Given the description of an element on the screen output the (x, y) to click on. 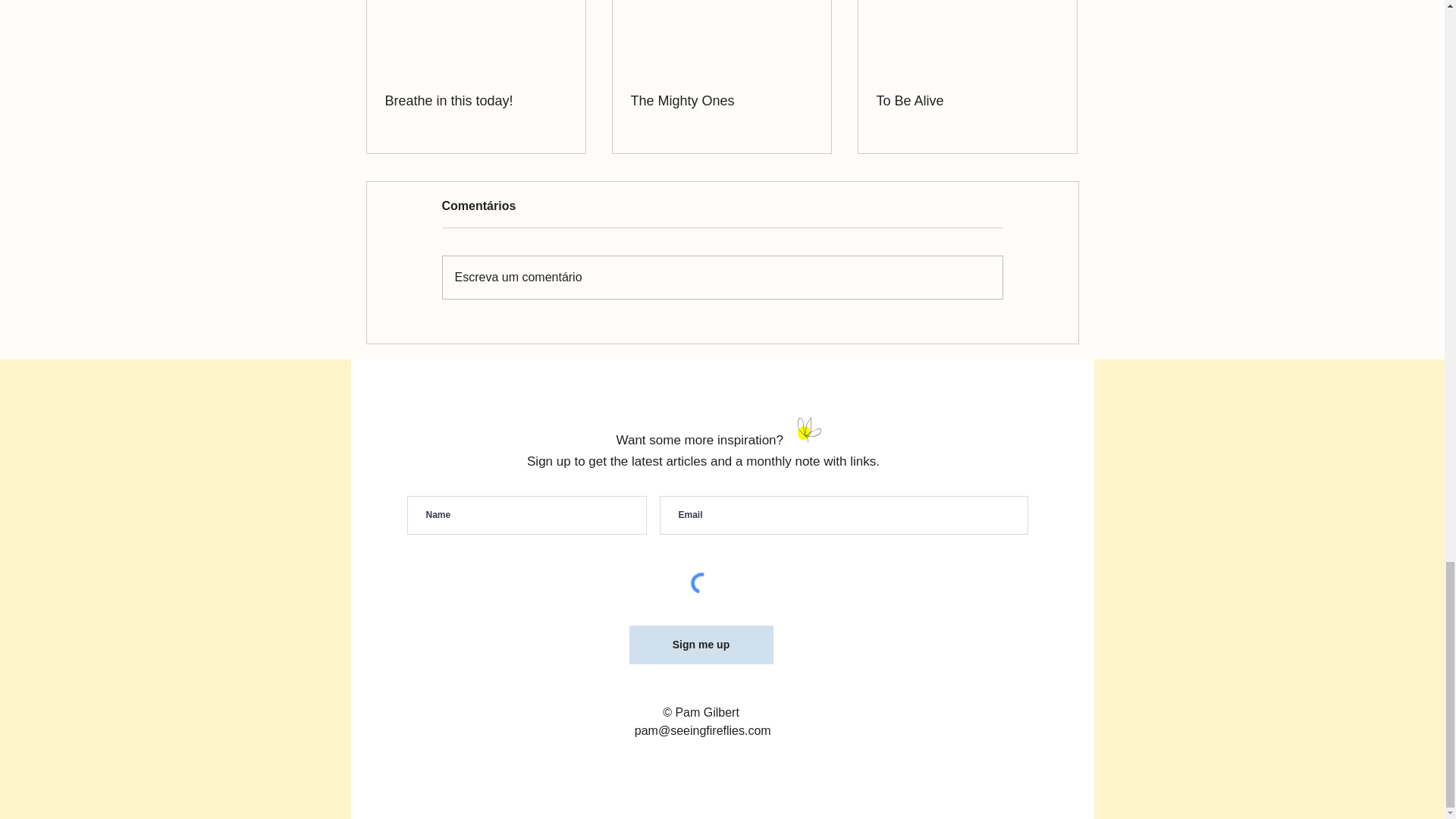
Sign me up (700, 644)
To Be Alive (967, 100)
Breathe in this today! (476, 100)
The Mighty Ones (721, 100)
